Given the description of an element on the screen output the (x, y) to click on. 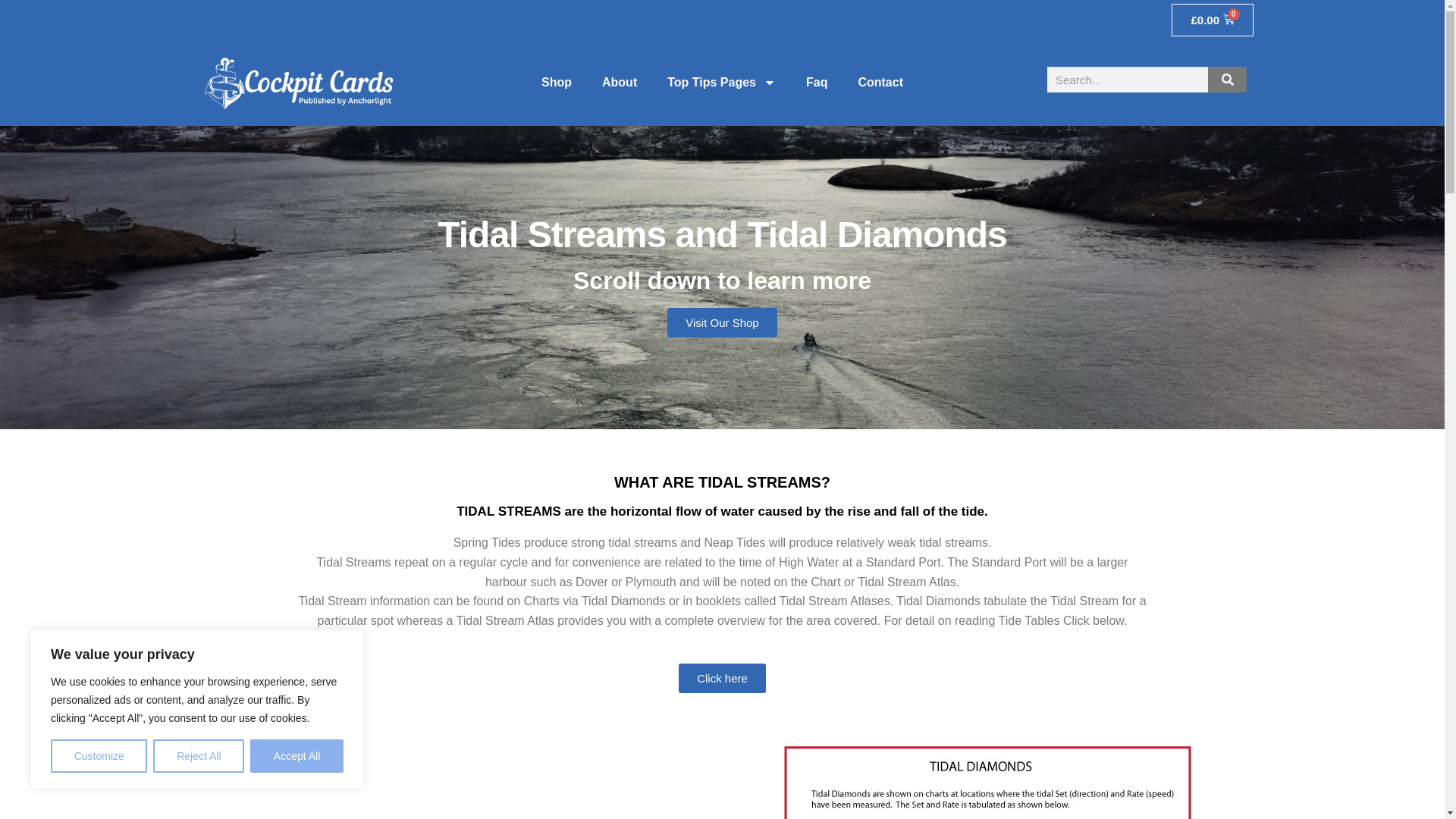
About (619, 82)
Accept All (296, 756)
Top Tips Pages (721, 82)
Faq (816, 82)
Reject All (198, 756)
Contact (880, 82)
Shop (555, 82)
Customize (98, 756)
